Given the description of an element on the screen output the (x, y) to click on. 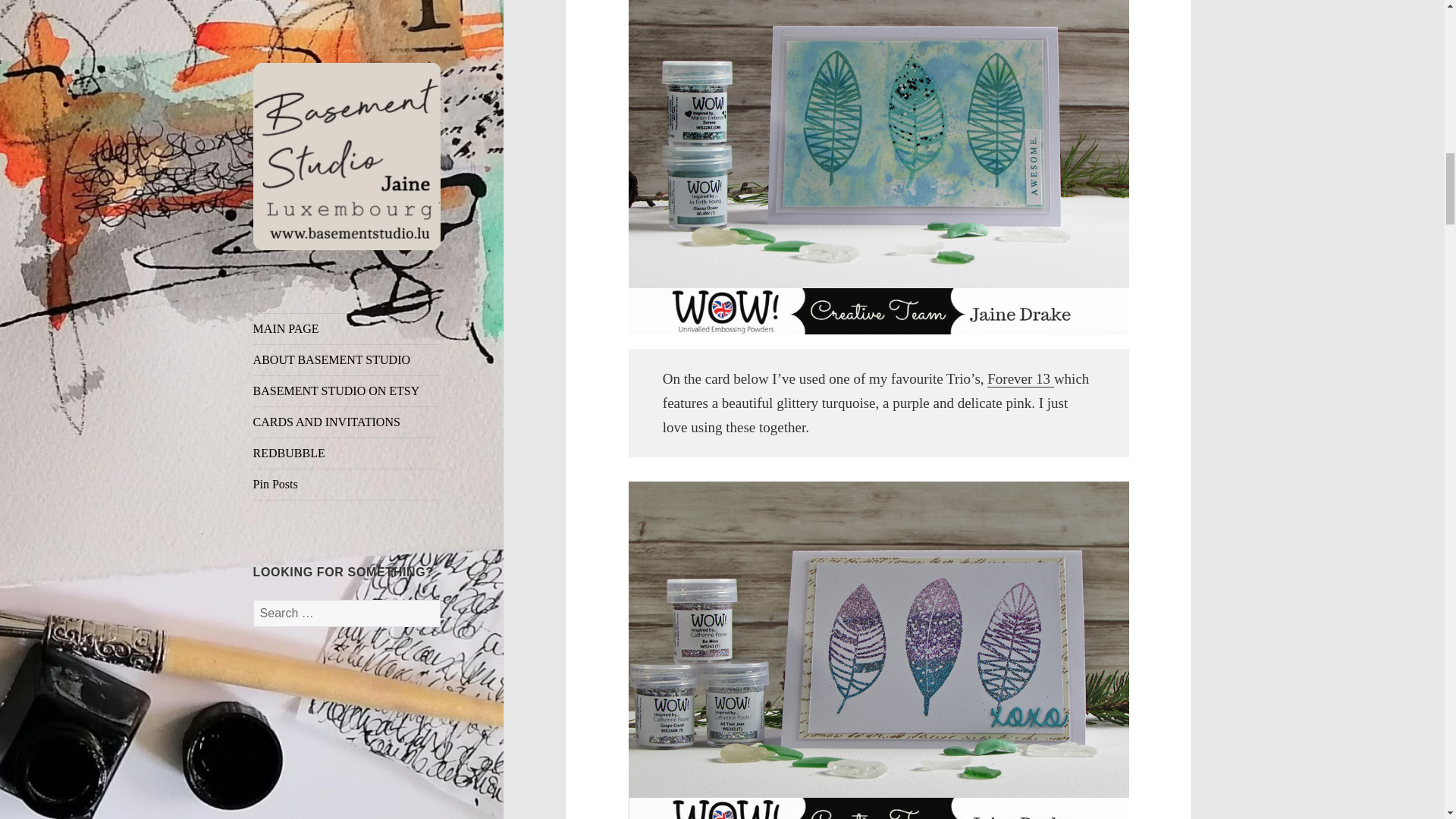
Forever 13 (1020, 379)
